Given the description of an element on the screen output the (x, y) to click on. 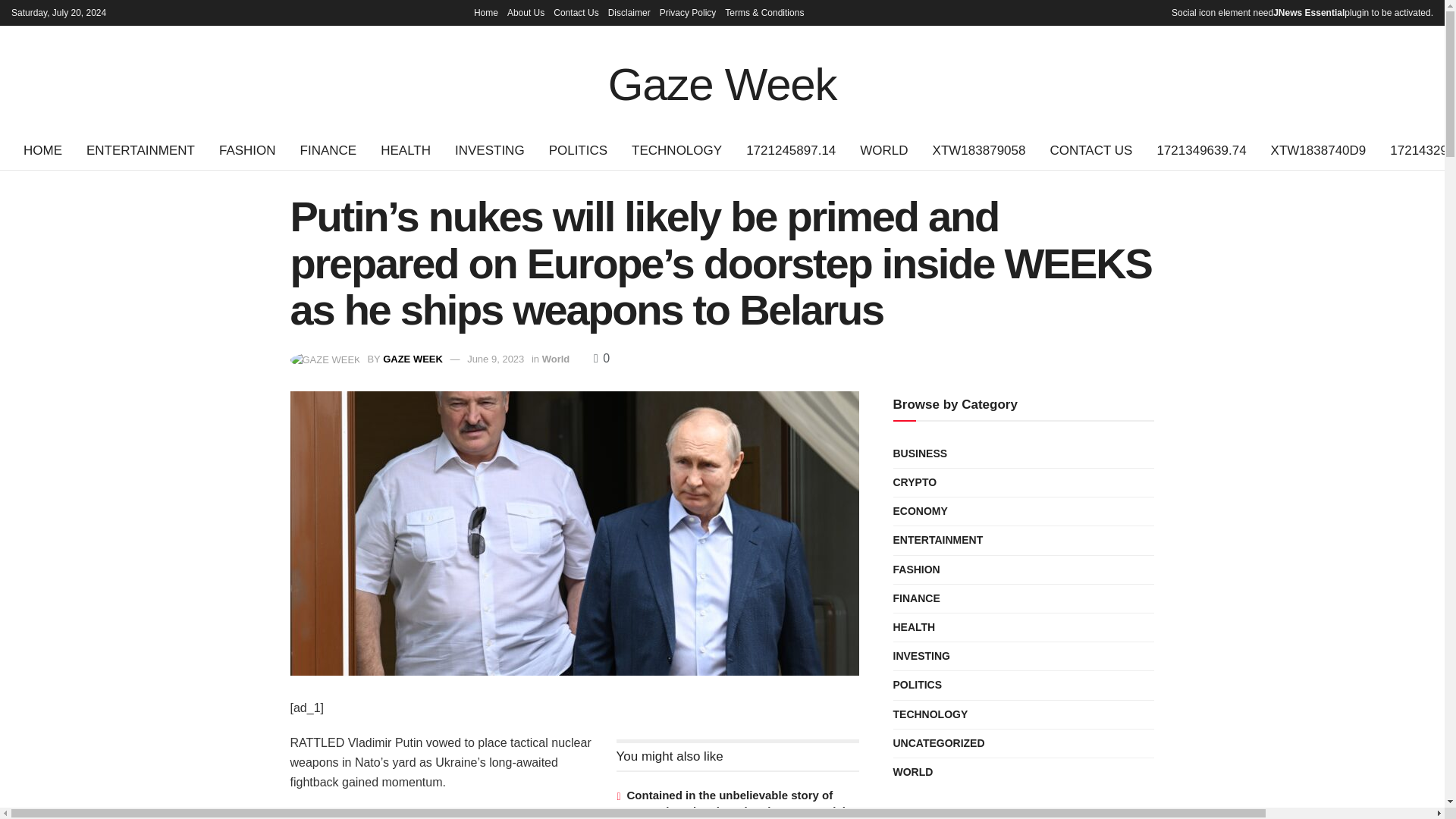
WORLD (883, 150)
1721245897.14 (790, 150)
INVESTING (489, 150)
Gaze Week (722, 78)
FINANCE (328, 150)
CONTACT US (1090, 150)
ENTERTAINMENT (140, 150)
1721349639.74 (1200, 150)
Contact Us (575, 12)
TECHNOLOGY (676, 150)
HOME (42, 150)
POLITICS (578, 150)
Home (485, 12)
Privacy Policy (687, 12)
Disclaimer (629, 12)
